Given the description of an element on the screen output the (x, y) to click on. 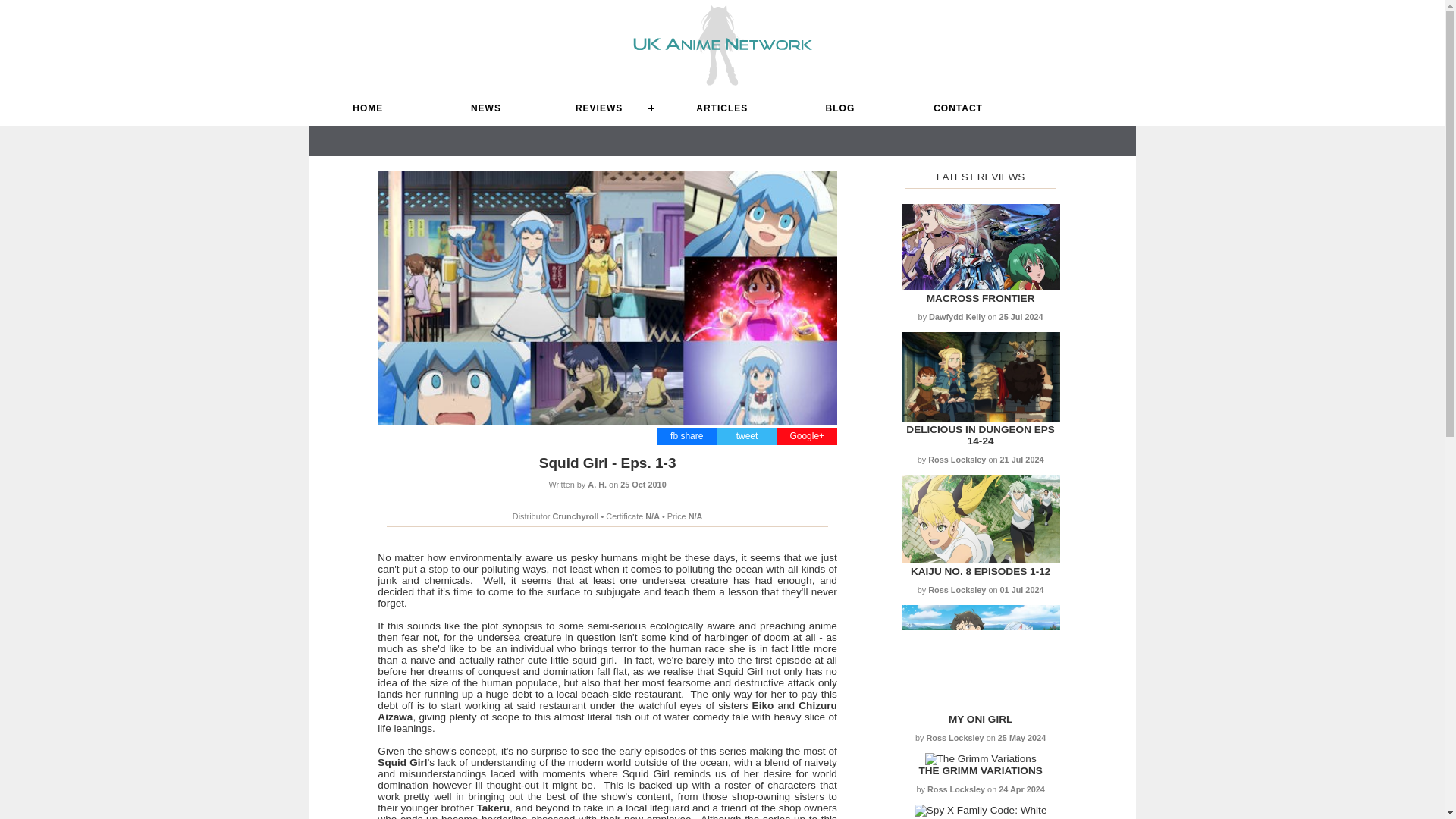
NEWS (485, 108)
Delicious in Dungeon eps 14-24 (980, 418)
fb share (686, 435)
MY ONI GIRL (980, 718)
tweet (747, 435)
REVIEWS (603, 108)
SPY X FAMILY CODE: WHITE (980, 817)
My Oni Girl (980, 718)
ARTICLES (721, 108)
Macross Frontier (980, 297)
Kaiju No. 8 Episodes 1-12 (980, 571)
HOME (368, 108)
The Grimm Variations (980, 770)
Delicious in Dungeon eps 14-24 (979, 435)
KAIJU NO. 8 EPISODES 1-12 (980, 571)
